Given the description of an element on the screen output the (x, y) to click on. 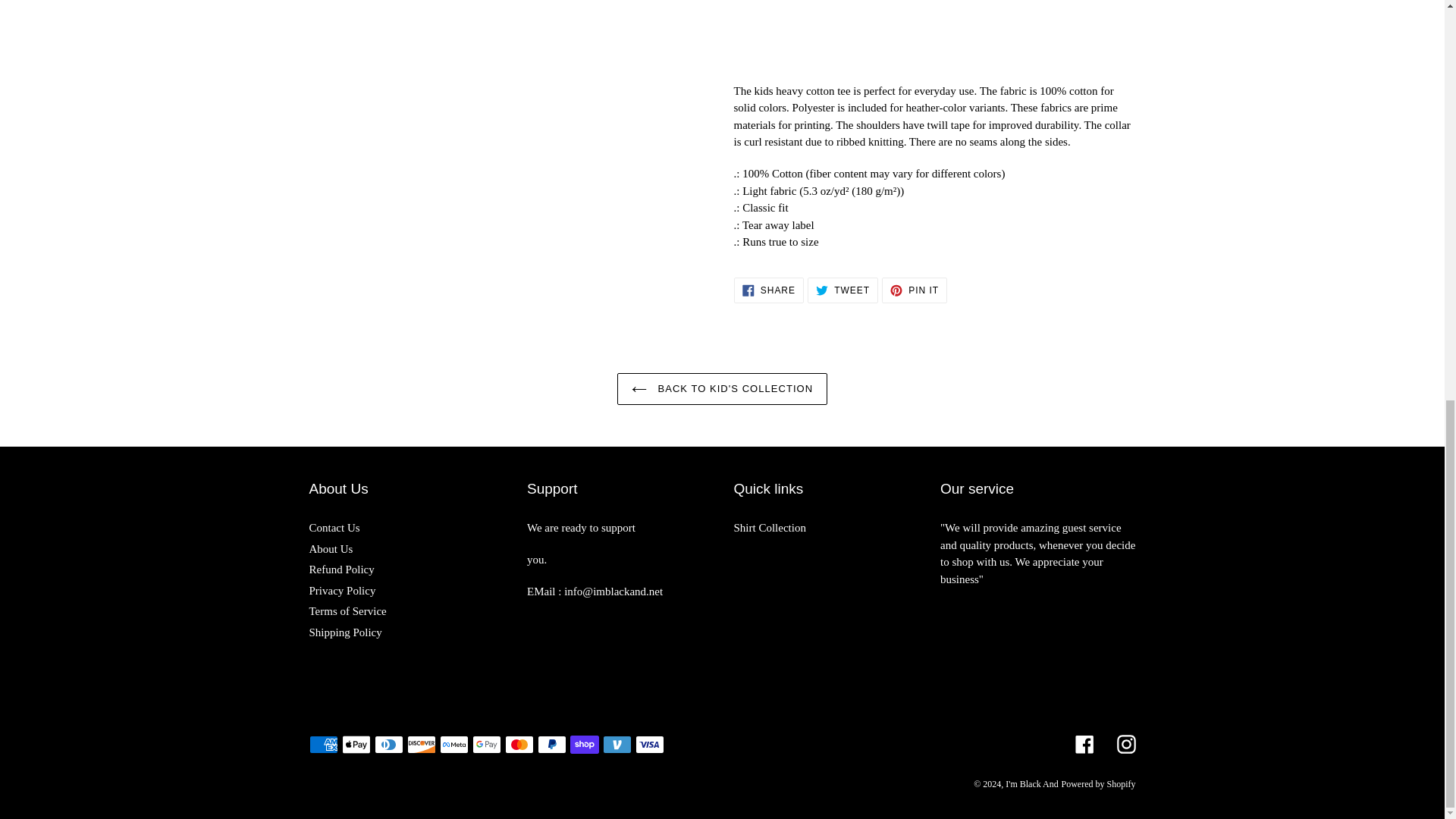
Privacy Policy (914, 290)
About Us (842, 290)
Contact Us (341, 590)
BACK TO KID'S COLLECTION (330, 548)
Shirt Collection (333, 527)
Refund Policy (722, 388)
Terms of Service (769, 527)
Shipping Policy (341, 569)
